Given the description of an element on the screen output the (x, y) to click on. 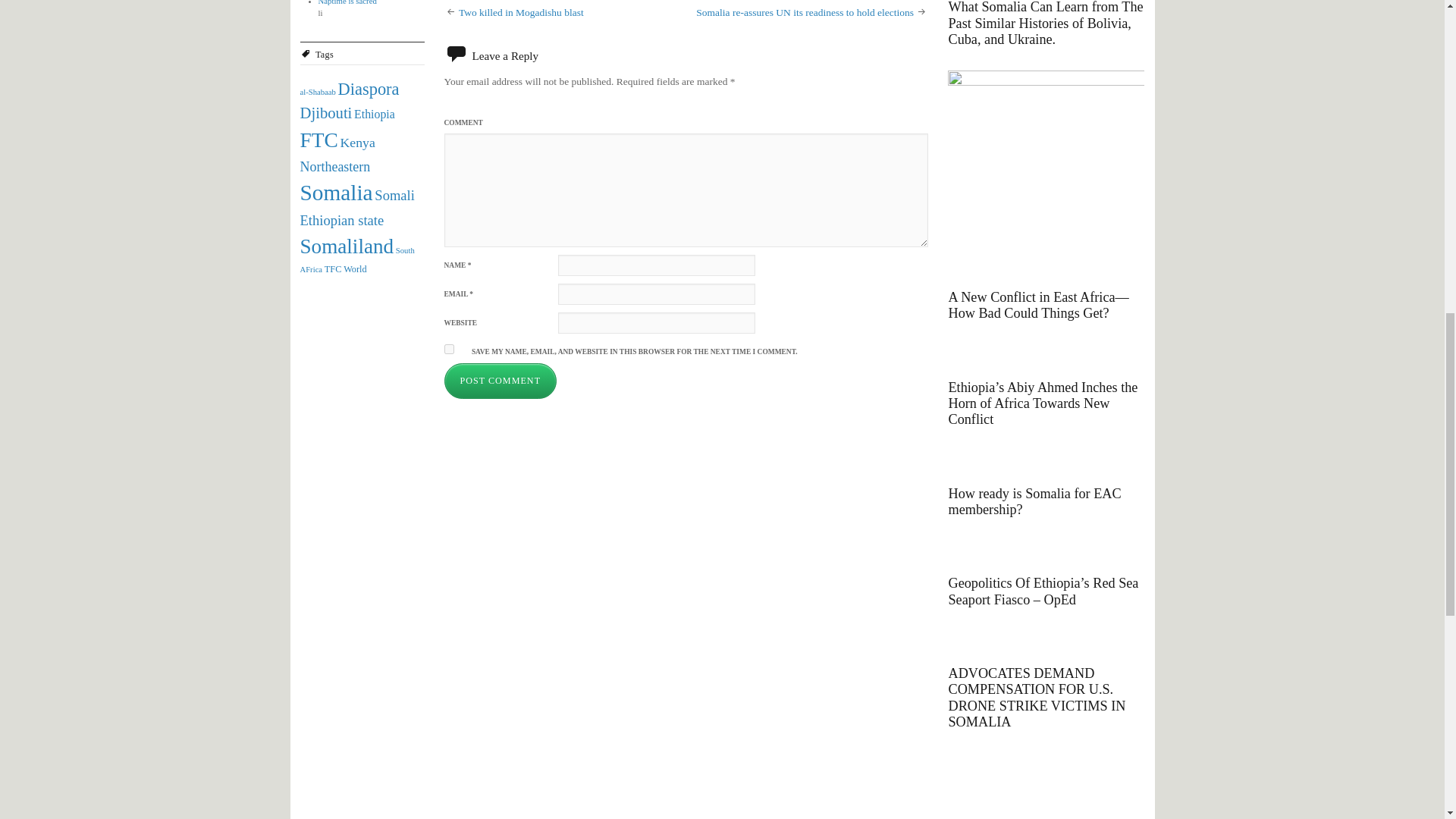
Post Comment (500, 380)
Diaspora (367, 88)
Naptime is sacred (347, 2)
Kenya (357, 142)
Somalia (335, 192)
yes (449, 348)
World (354, 268)
South AFrica (356, 259)
Ethiopia (373, 113)
Djibouti (325, 112)
